Given the description of an element on the screen output the (x, y) to click on. 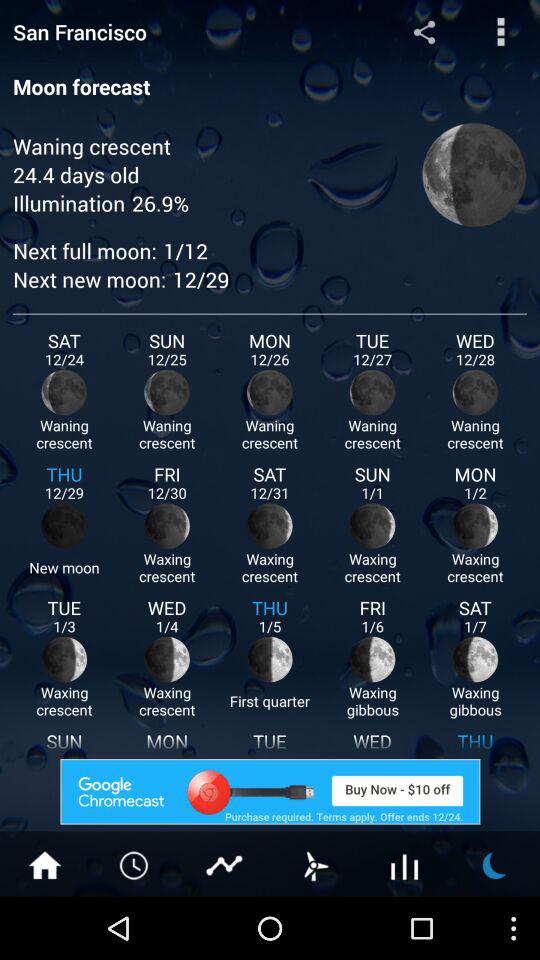
share (424, 31)
